Given the description of an element on the screen output the (x, y) to click on. 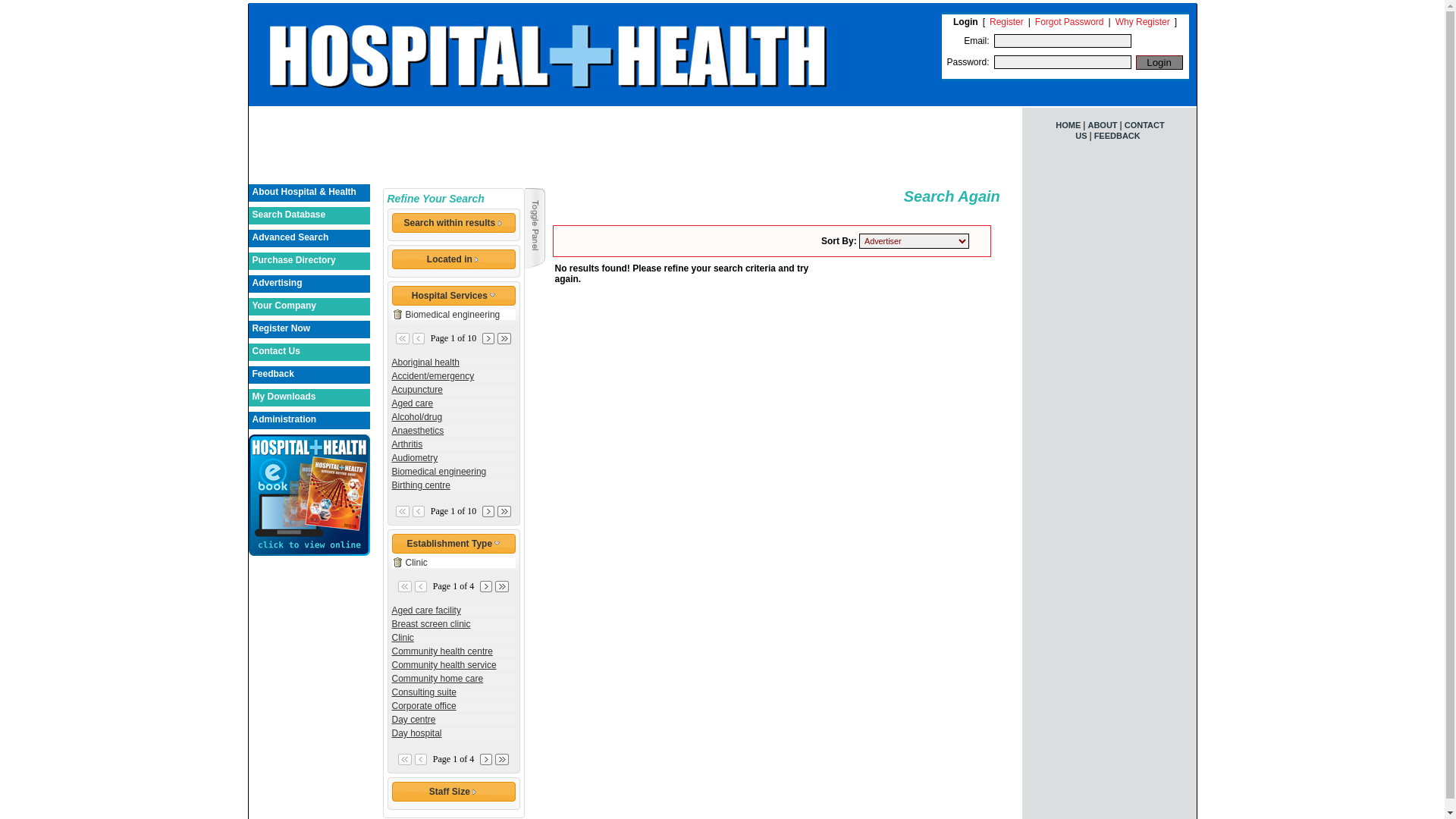
Why Register Element type: text (1142, 21)
Aboriginal health Element type: text (452, 362)
Staff Size  Element type: text (452, 791)
Aged care Element type: text (452, 403)
CONTACT US Element type: text (1119, 129)
Advertising Element type: text (309, 283)
Day centre Element type: text (452, 719)
Clinic Element type: text (408, 562)
Anaesthetics Element type: text (452, 430)
Register Element type: text (1006, 21)
HOME Element type: text (1067, 124)
FEEDBACK Element type: text (1117, 135)
Search Again Element type: text (775, 196)
Alcohol/drug Element type: text (452, 416)
Breast screen clinic Element type: text (452, 623)
Day hospital Element type: text (452, 733)
Audiometry Element type: text (452, 457)
Establishment Type  Element type: text (452, 543)
Community home care Element type: text (452, 678)
Birthing centre Element type: text (452, 485)
Forgot Password Element type: text (1069, 21)
Community health service Element type: text (452, 664)
Your Company Element type: text (309, 306)
Register Now Element type: text (309, 329)
My Downloads Element type: text (309, 397)
Search within results  Element type: text (452, 222)
Arthritis Element type: text (452, 444)
Hospital Services  Element type: text (452, 295)
Biomedical engineering Element type: text (445, 314)
Clinic Element type: text (452, 637)
Acupuncture Element type: text (452, 389)
Aged care facility Element type: text (452, 610)
Purchase Directory Element type: text (309, 260)
Consulting suite Element type: text (452, 692)
Login Element type: text (1159, 61)
Contact Us Element type: text (309, 351)
Feedback Element type: text (309, 374)
Advanced Search Element type: text (309, 238)
Administration Element type: text (309, 420)
Community health centre Element type: text (452, 651)
Biomedical engineering Element type: text (452, 471)
Located in  Element type: text (452, 259)
About Hospital & Health Element type: text (309, 192)
Corporate office Element type: text (452, 705)
ABOUT Element type: text (1102, 124)
Accident/emergency Element type: text (452, 375)
Search Database Element type: text (309, 215)
